Given the description of an element on the screen output the (x, y) to click on. 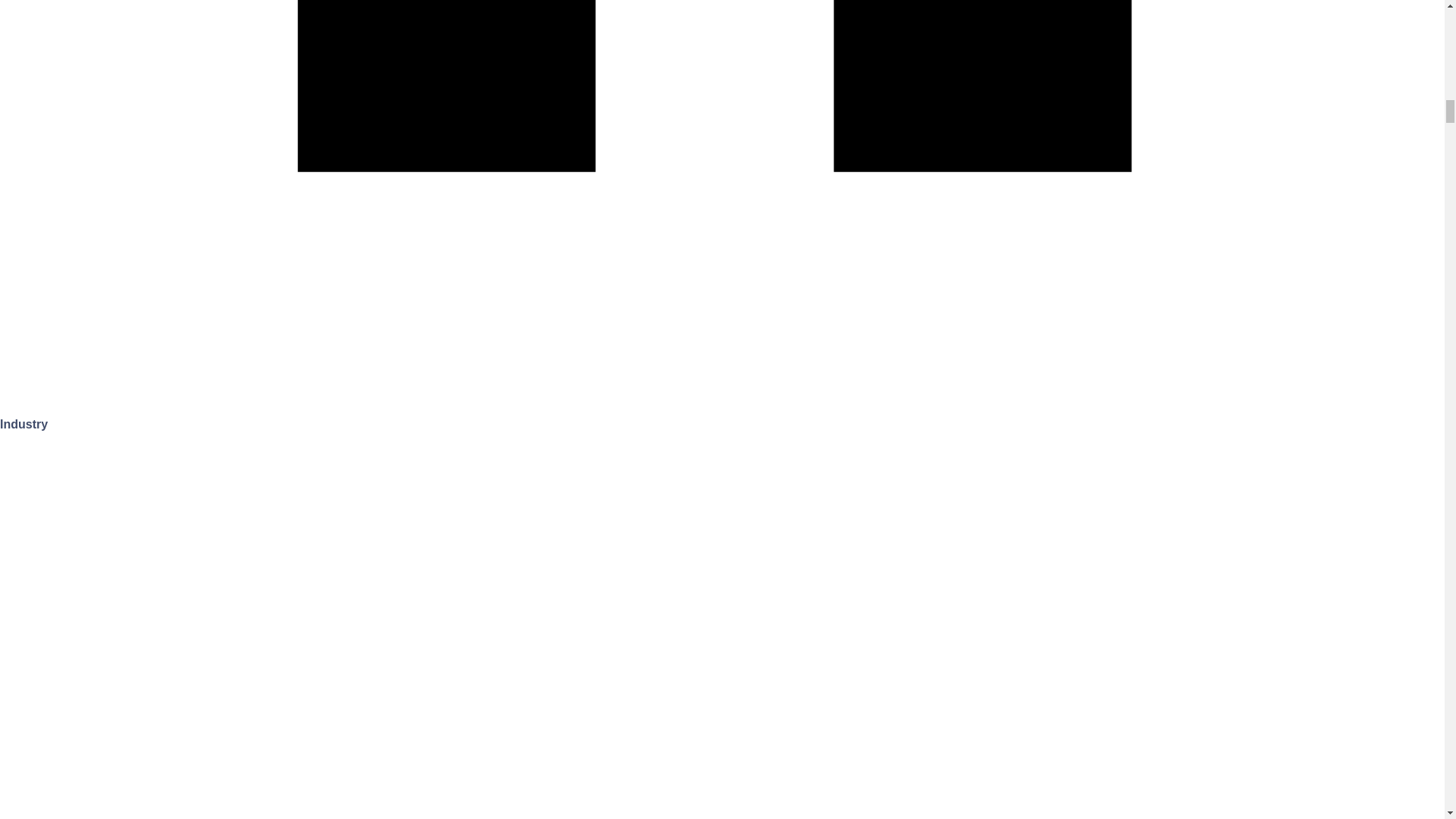
Industry (24, 423)
Industry (24, 423)
